Given the description of an element on the screen output the (x, y) to click on. 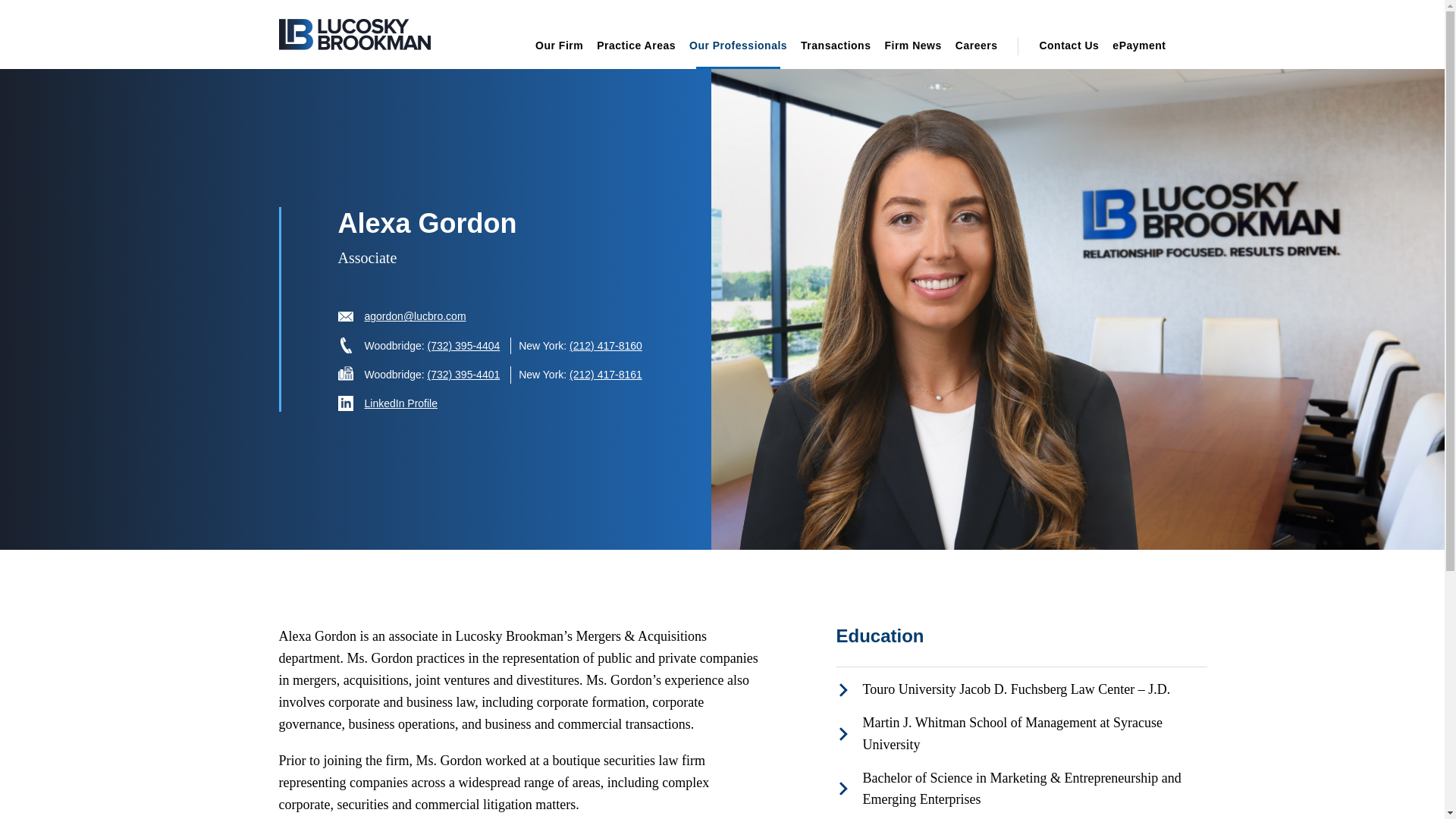
Firm News (912, 52)
Practice Areas (635, 52)
ePayment (1135, 52)
Contact Us (1068, 52)
Our Firm (558, 52)
Transactions (835, 52)
Our Professionals (737, 52)
Careers (976, 52)
